Given the description of an element on the screen output the (x, y) to click on. 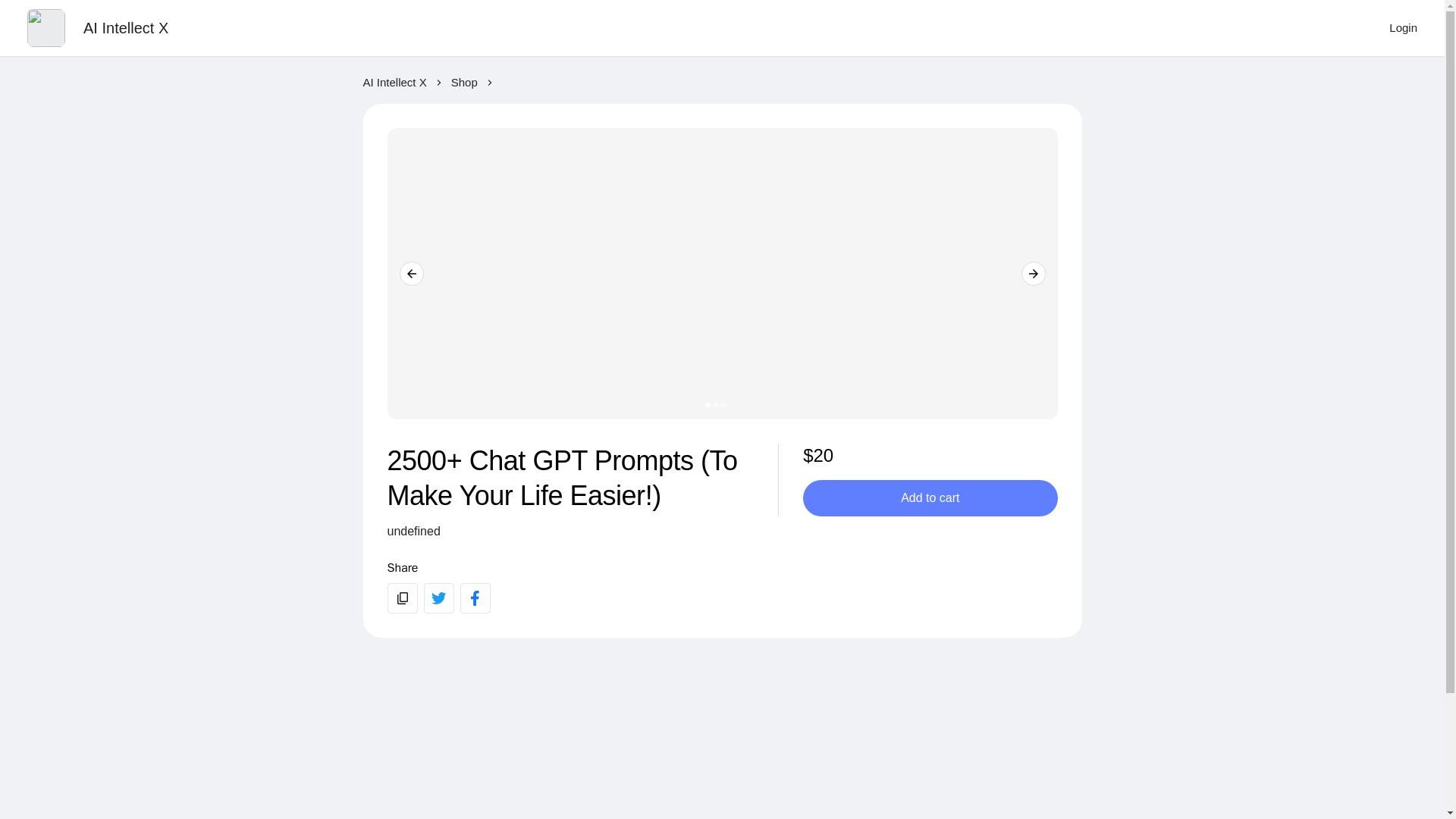
Add to cart (930, 497)
Shop (464, 82)
AI Intellect X (125, 27)
Login (1402, 28)
AI Intellect X (394, 82)
